Given the description of an element on the screen output the (x, y) to click on. 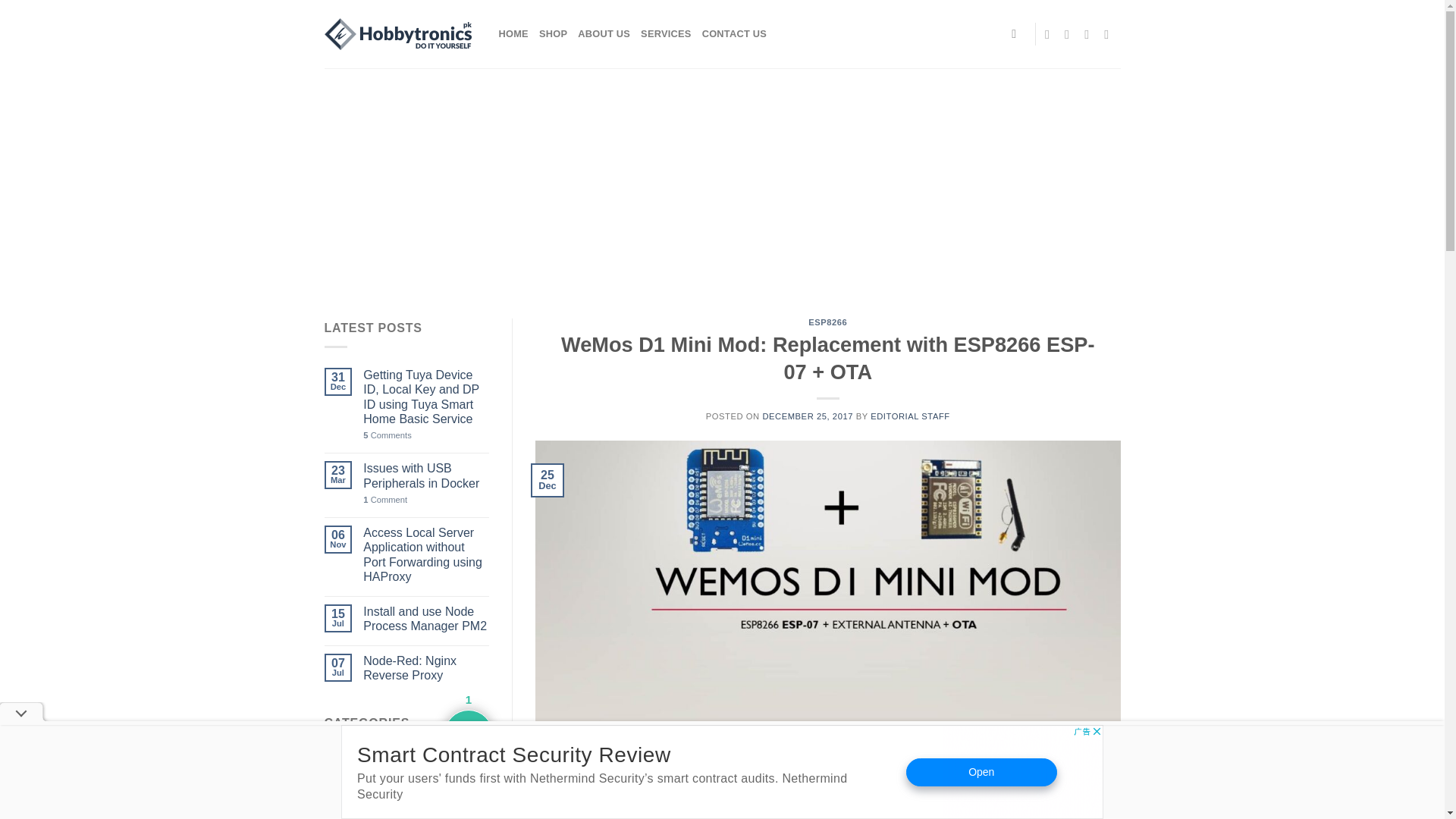
1 Comment (425, 500)
Issues with USB Peripherals in Docker (425, 475)
SHOP (552, 33)
ABOUT US (604, 33)
HOME (513, 33)
Node-Red: Nginx Reverse Proxy (425, 667)
Send us an email (1090, 33)
Issues with USB Peripherals in Docker (425, 475)
5 Comments (425, 435)
ESP8266 (349, 798)
GSM (338, 816)
